Given the description of an element on the screen output the (x, y) to click on. 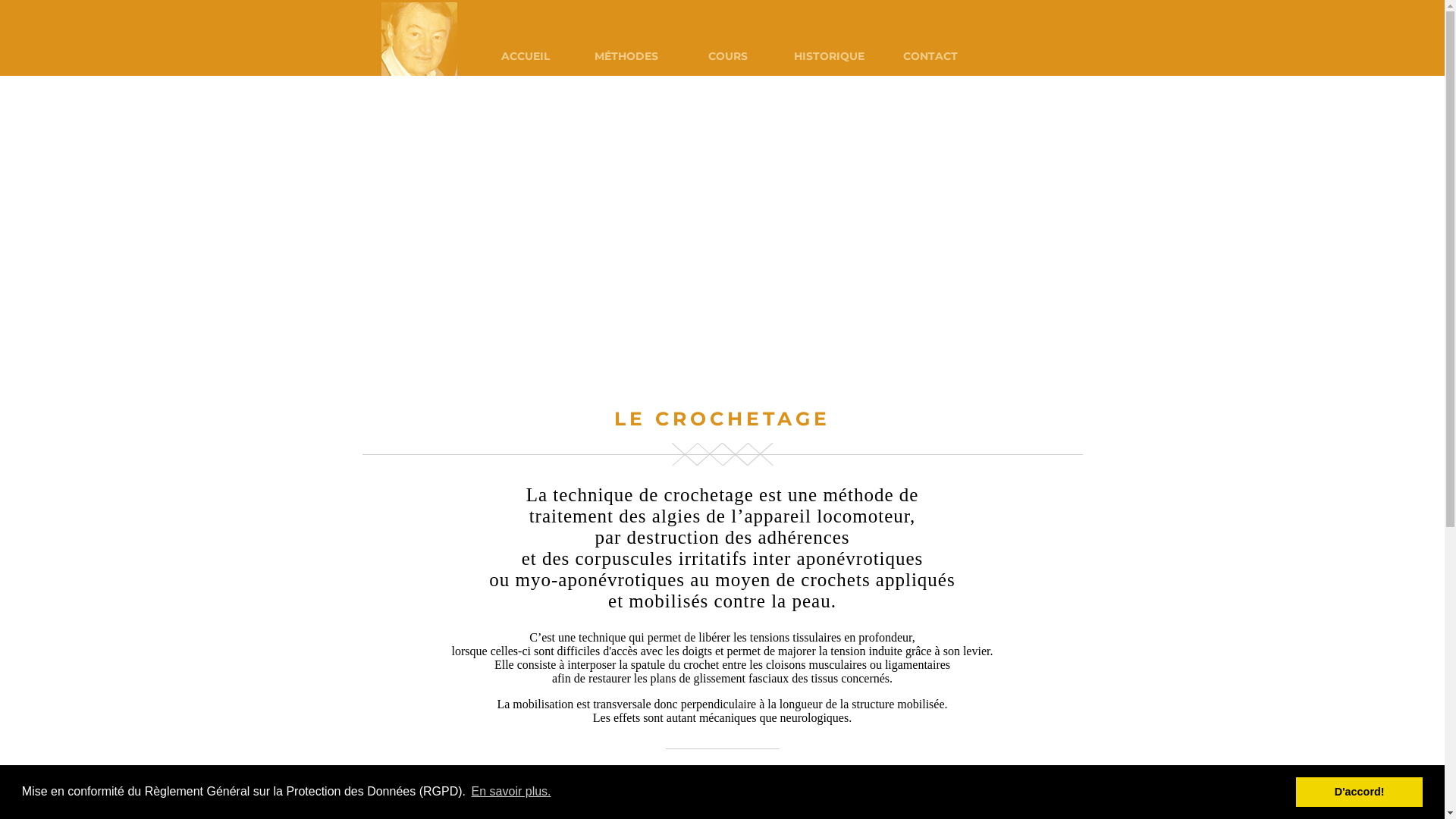
ACCUEIL Element type: text (525, 55)
HISTORIQUE Element type: text (828, 55)
CONTACT Element type: text (930, 55)
D'accord! Element type: text (1358, 791)
En savoir plus. Element type: text (510, 791)
COURS Element type: text (726, 55)
